Given the description of an element on the screen output the (x, y) to click on. 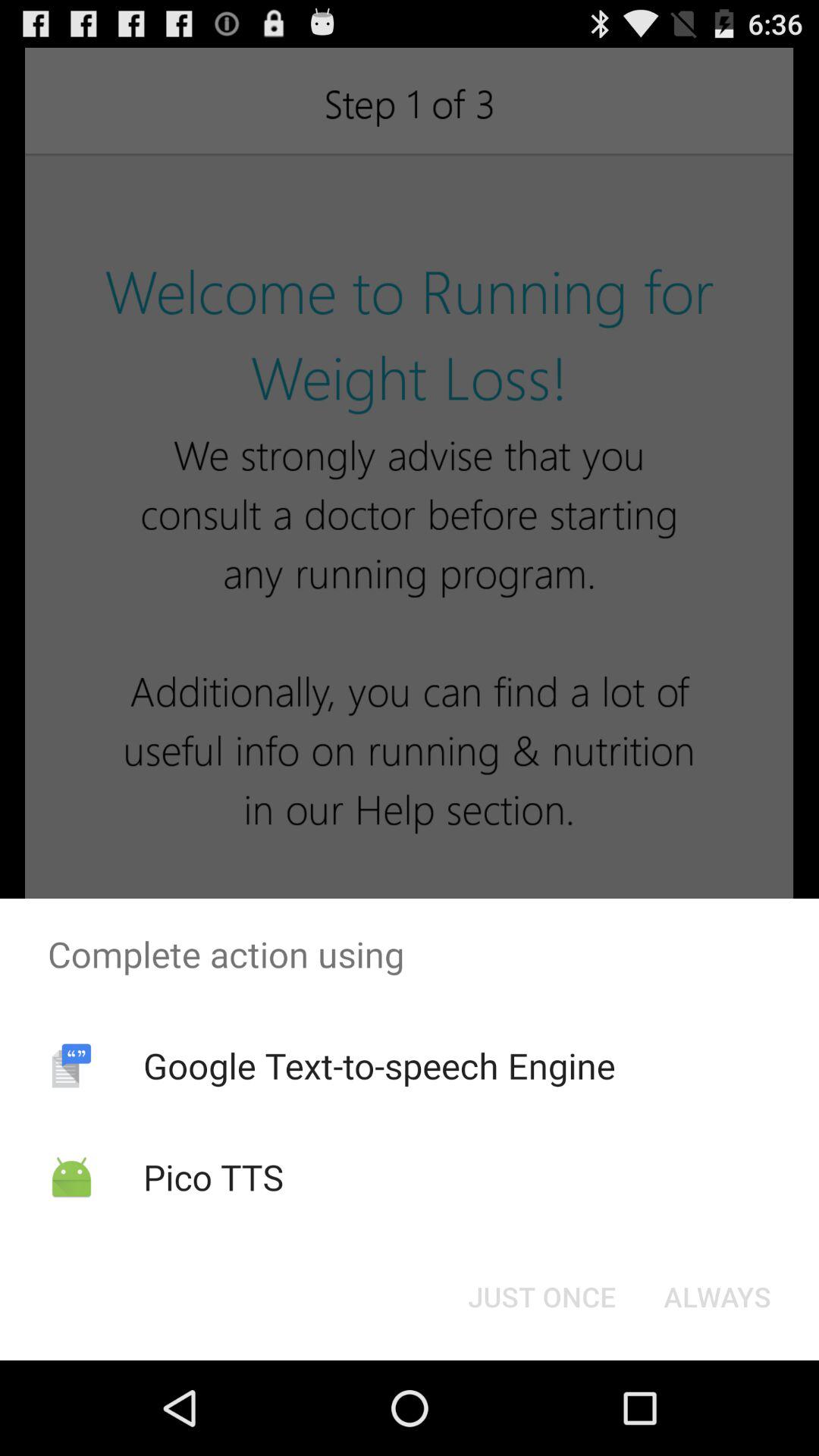
choose google text to app (379, 1065)
